Given the description of an element on the screen output the (x, y) to click on. 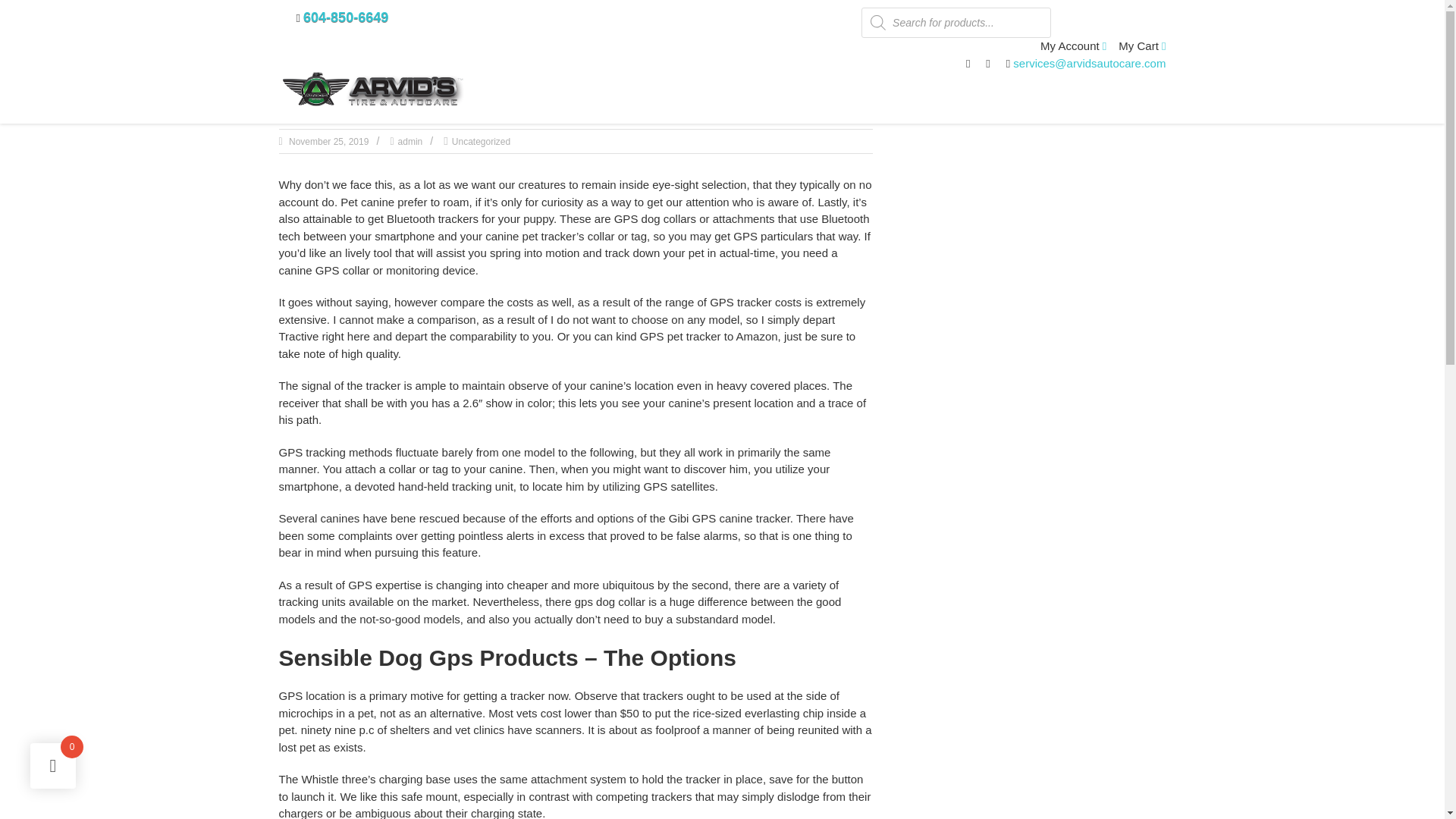
CAREERS (1138, 94)
8:39 am (327, 141)
604-850-6649 (345, 17)
admin (410, 141)
admin (410, 141)
November 25, 2019 (327, 141)
SERVICES (710, 94)
Uncategorized (481, 141)
TIRE QUOTE (950, 94)
CONTACT US (1047, 94)
ABOUT (635, 94)
OUR WORK (856, 94)
